Given the description of an element on the screen output the (x, y) to click on. 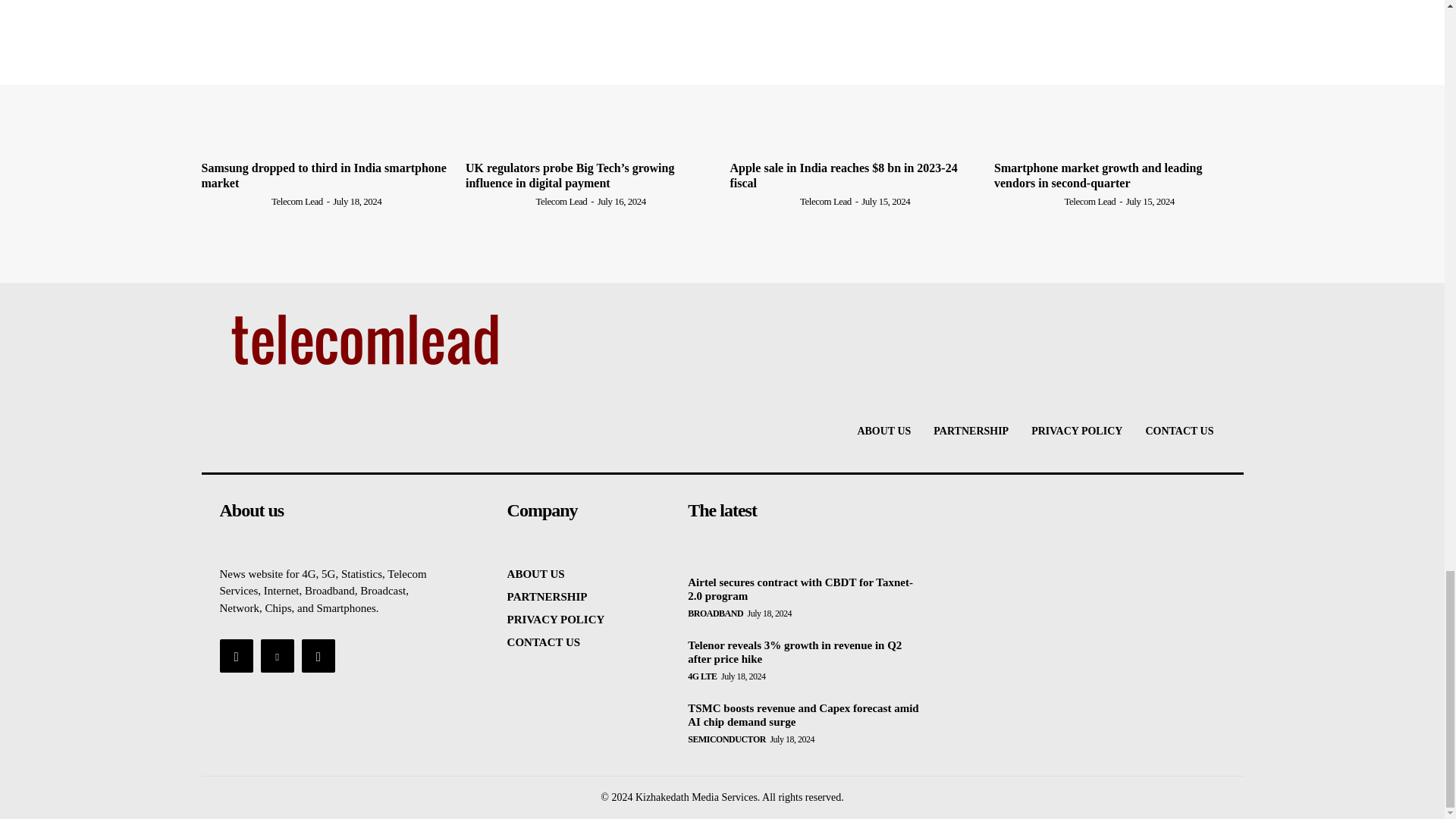
Samsung dropped to third in India smartphone market (326, 88)
Samsung dropped to third in India smartphone market (324, 175)
